Given the description of an element on the screen output the (x, y) to click on. 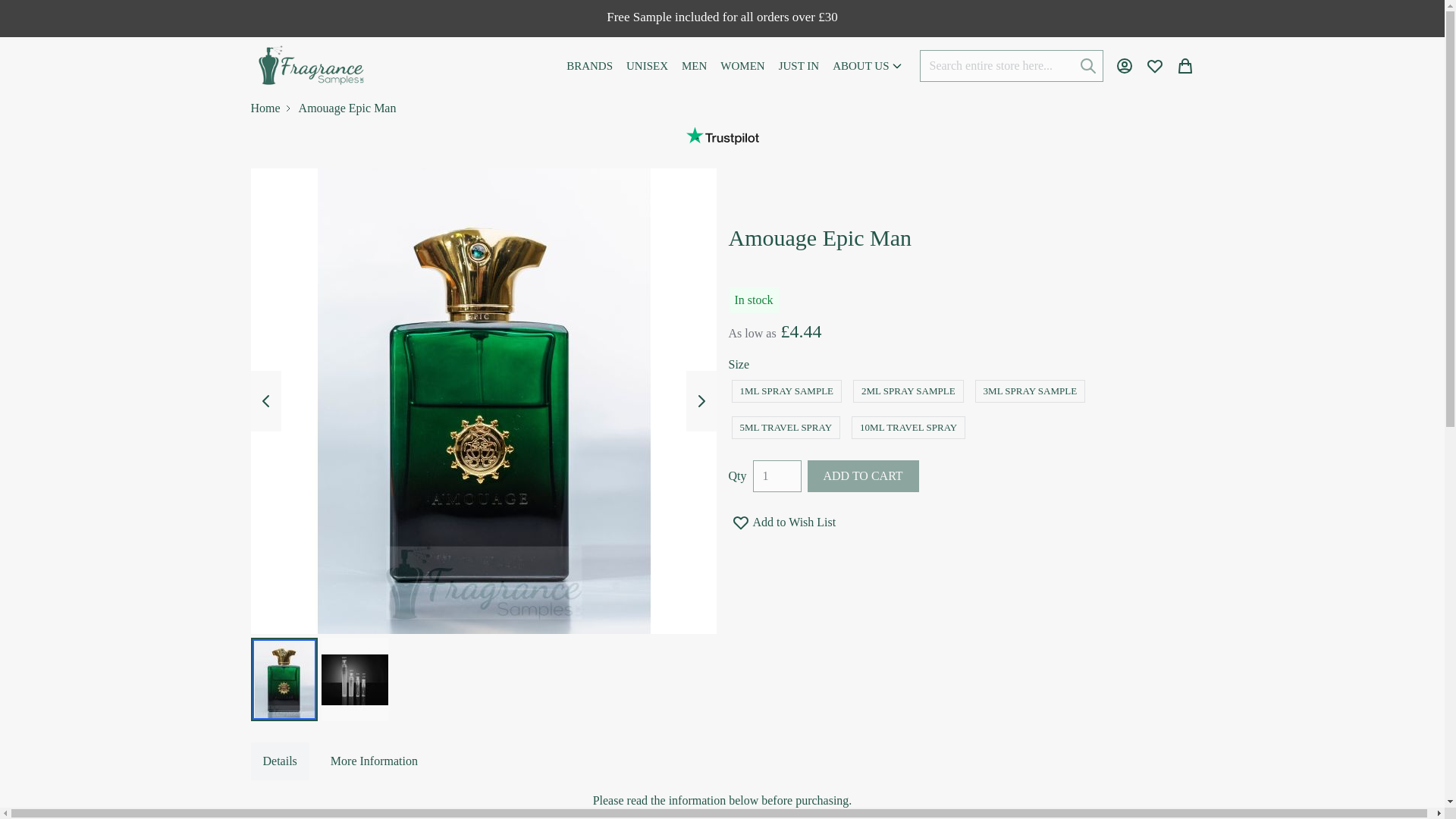
MEN (694, 65)
1 (776, 476)
View Image (283, 679)
Customer reviews powered by Trustpilot (721, 135)
Wish List (1153, 65)
WOMEN (742, 65)
Add to Wish List (781, 522)
Add to Cart (862, 476)
Home (264, 108)
View Image (354, 679)
My Account (1123, 65)
Search (1087, 65)
ADD TO CART (862, 476)
Qty (776, 476)
UNISEX (647, 65)
